Given the description of an element on the screen output the (x, y) to click on. 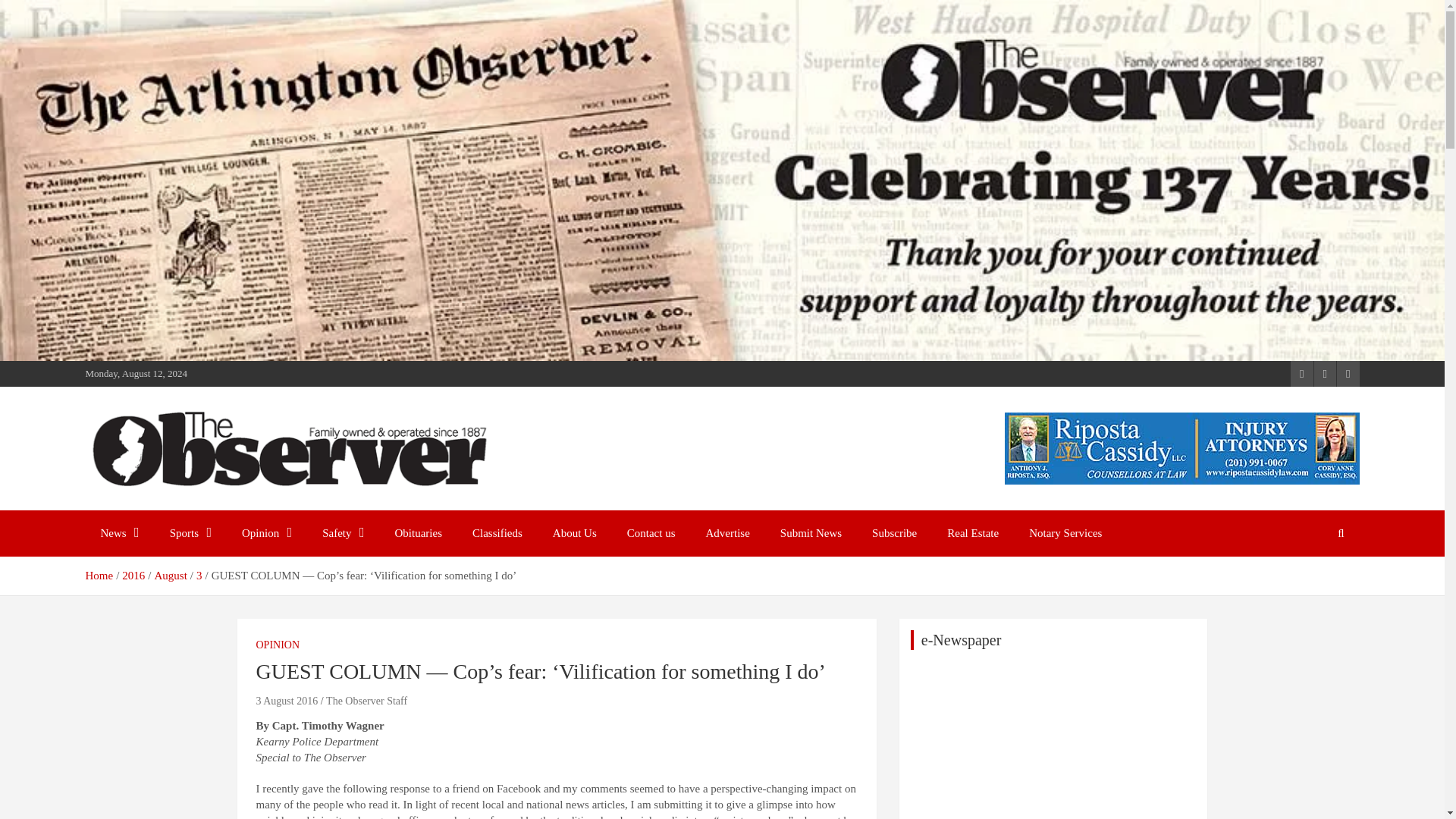
About Us (574, 533)
Classifieds (497, 533)
The Observer Online (212, 506)
Obituaries (418, 533)
Opinion (267, 533)
News (119, 533)
Sports (190, 533)
Safety (342, 533)
